Given the description of an element on the screen output the (x, y) to click on. 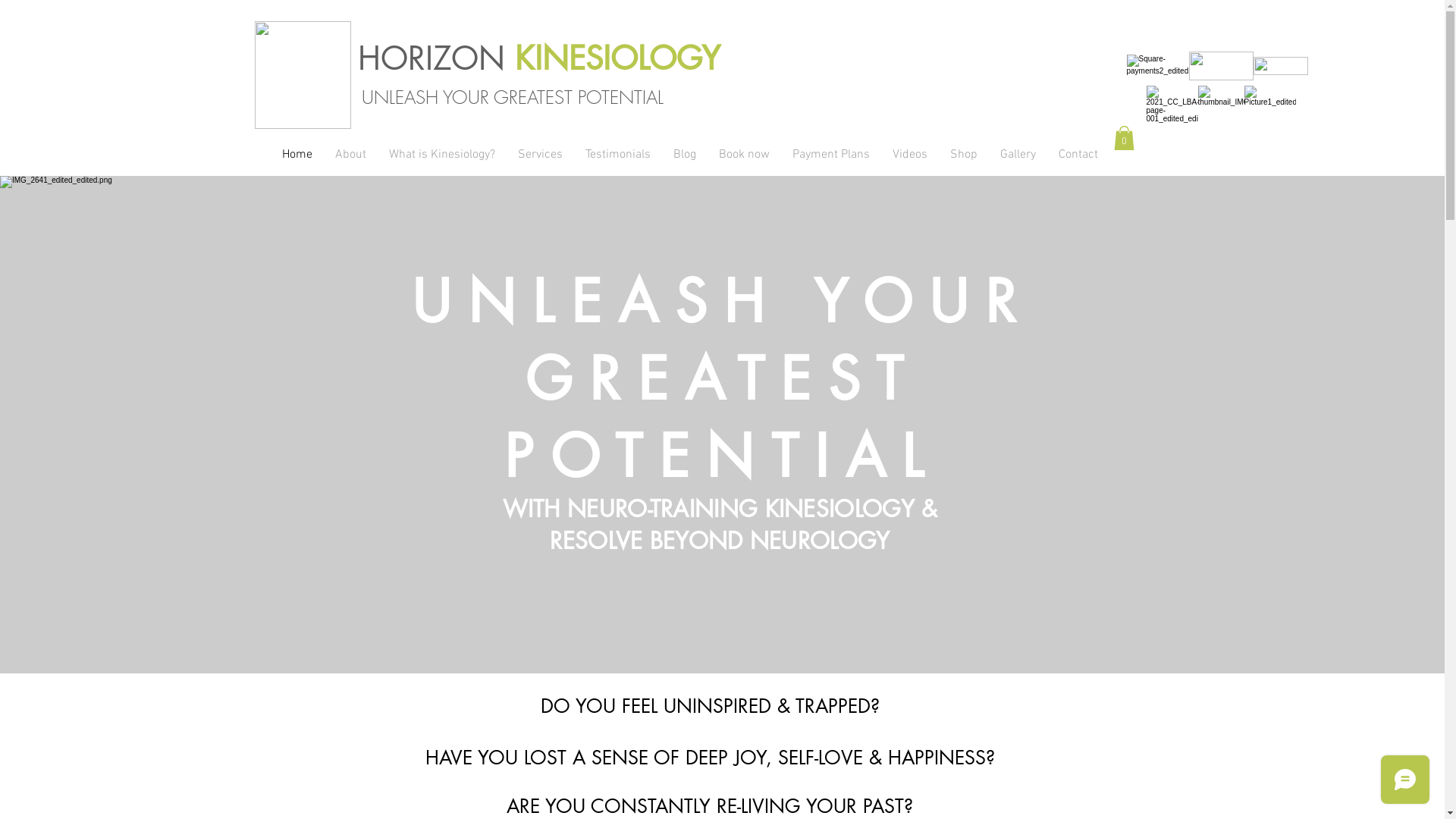
About Element type: text (349, 155)
Home Element type: text (296, 155)
Contact Element type: text (1077, 155)
Book now Element type: text (743, 155)
KINESIOLOGY Element type: text (616, 57)
What is Kinesiology? Element type: text (441, 155)
0 Element type: text (1123, 137)
Services Element type: text (540, 155)
Shop Element type: text (963, 155)
Testimonials Element type: text (617, 155)
HORIZON  Element type: text (435, 57)
paypal.png Element type: hover (1279, 65)
Payment Plans Element type: text (831, 155)
Gallery Element type: text (1017, 155)
Blog Element type: text (683, 155)
Picture1.png Element type: hover (1269, 117)
Videos Element type: text (909, 155)
